Given the description of an element on the screen output the (x, y) to click on. 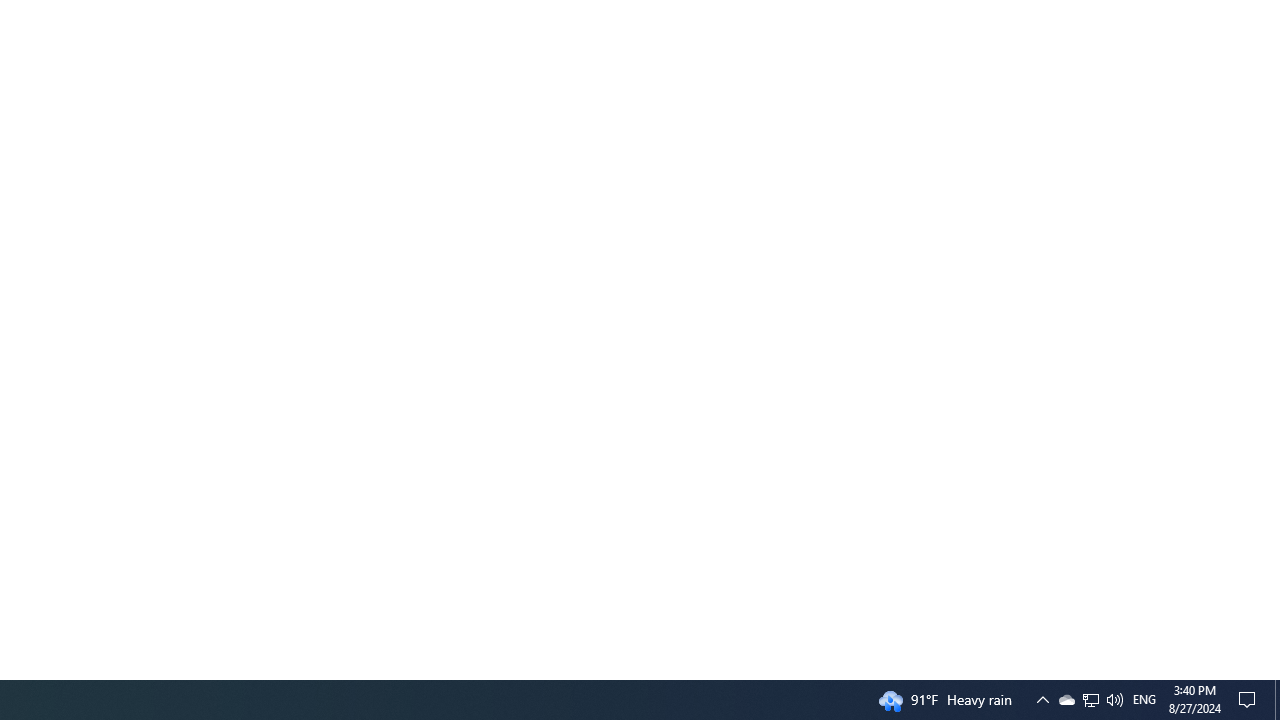
Q2790: 100% (1114, 699)
Action Center, No new notifications (1250, 699)
User Promoted Notification Area (1090, 699)
Notification Chevron (1091, 699)
Show desktop (1042, 699)
Tray Input Indicator - English (United States) (1277, 699)
